Given the description of an element on the screen output the (x, y) to click on. 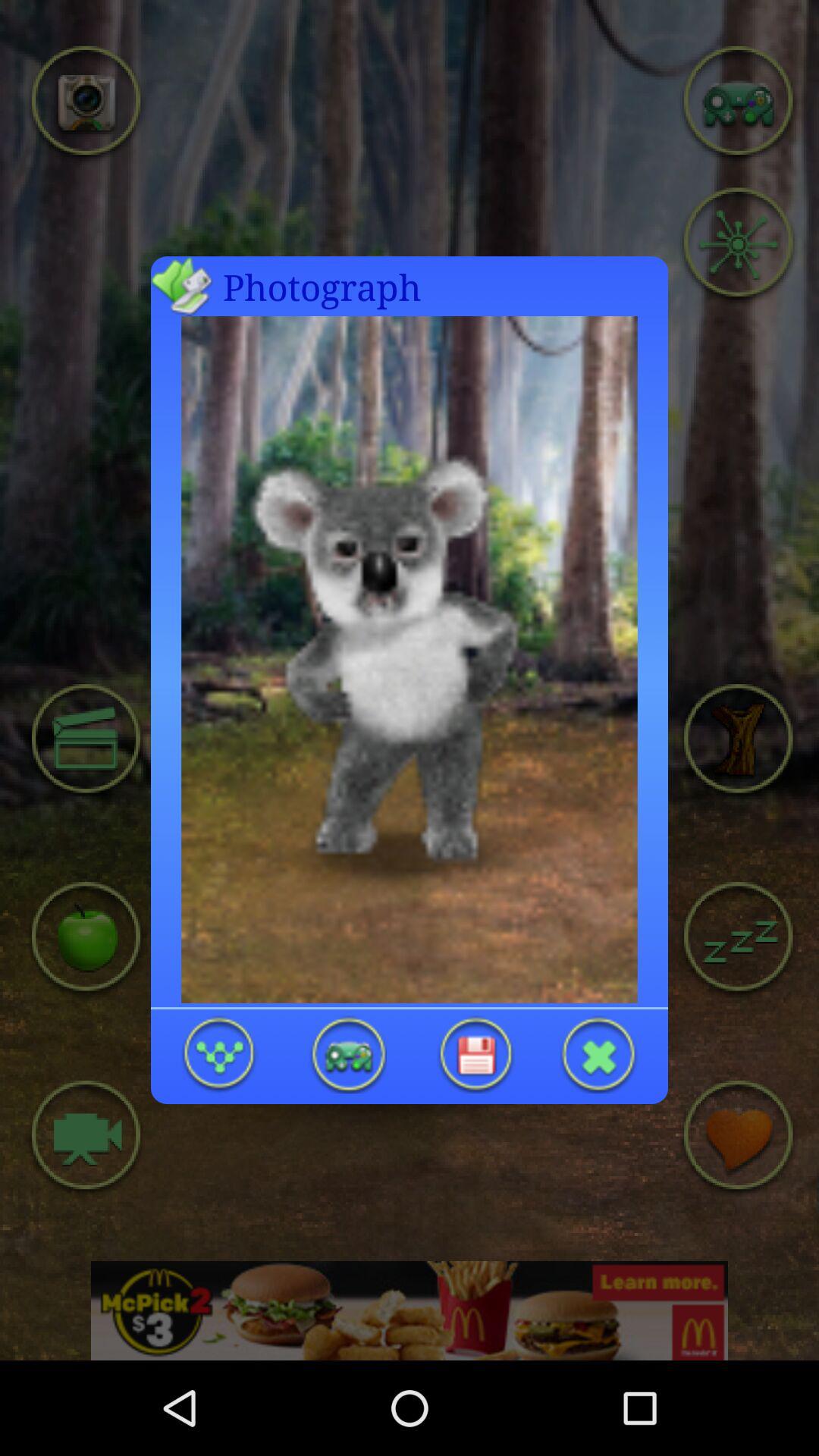
close (599, 1054)
